Given the description of an element on the screen output the (x, y) to click on. 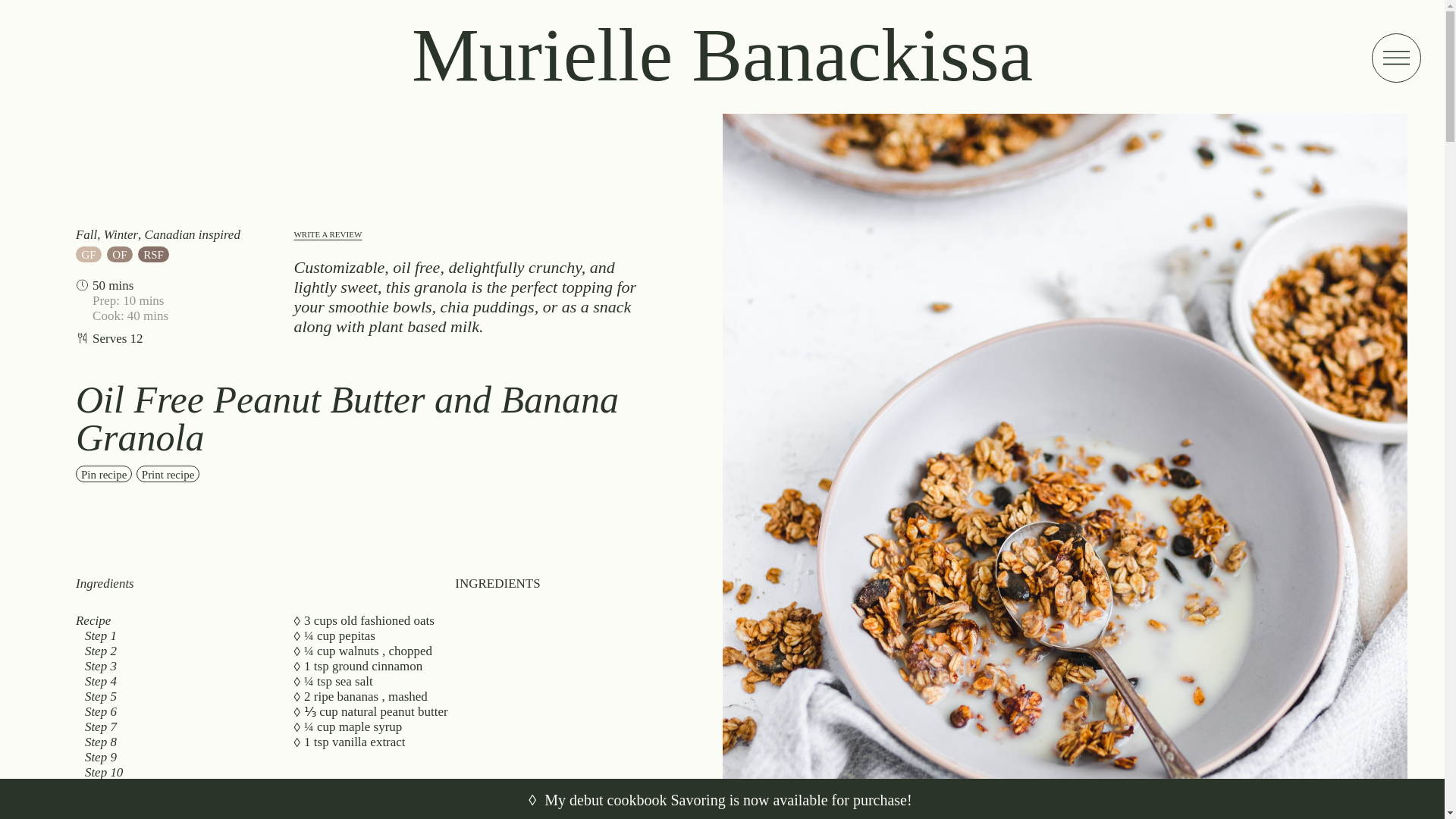
GF (88, 254)
Step 2 (171, 651)
OF (119, 254)
Murielle Banackissa (722, 55)
Step 4 (171, 681)
Gluten free (88, 254)
Winter (120, 234)
Recipe (167, 620)
RSF (154, 254)
Step 5 (171, 696)
